Given the description of an element on the screen output the (x, y) to click on. 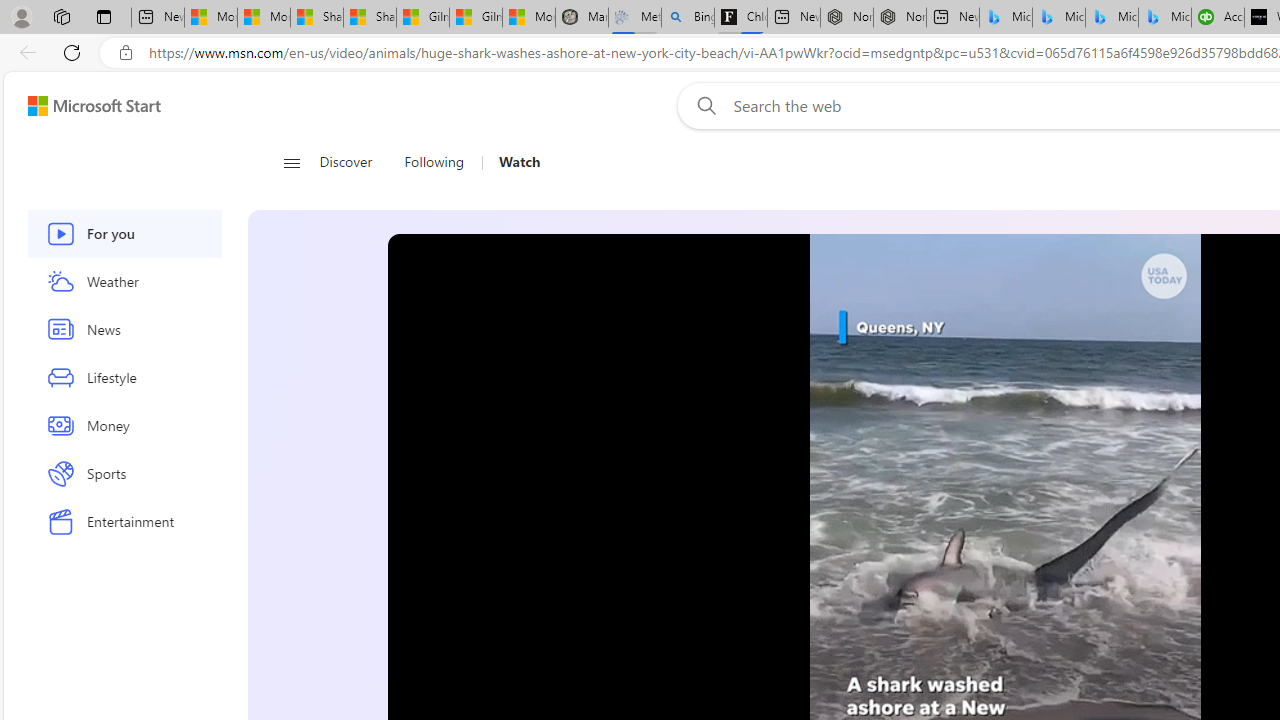
Accounting Software for Accountants, CPAs and Bookkeepers (1217, 17)
Watch (511, 162)
Skip to content (86, 105)
Web search (702, 105)
Skip to footer (82, 105)
Open navigation menu (291, 162)
